Given the description of an element on the screen output the (x, y) to click on. 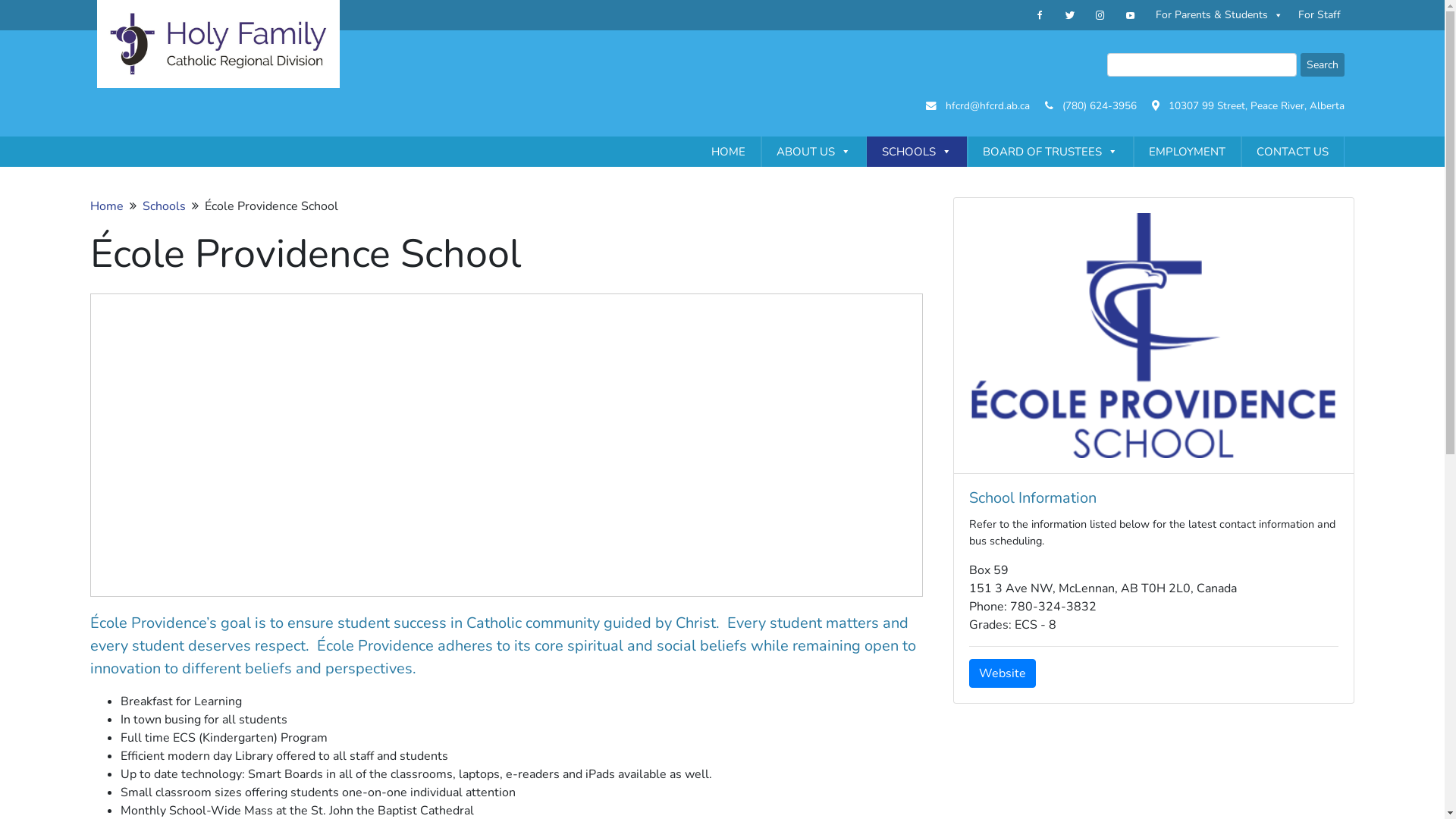
SCHOOLS Element type: text (916, 151)
EMPLOYMENT Element type: text (1185, 151)
Website Element type: text (1002, 672)
Schools Element type: text (163, 205)
ABOUT US Element type: text (813, 151)
Home Element type: text (106, 205)
For Parents & Students Element type: text (1219, 15)
BOARD OF TRUSTEES Element type: text (1049, 151)
Search Element type: text (1321, 64)
CONTACT US Element type: text (1291, 151)
HOME Element type: text (728, 151)
For Staff Element type: text (1319, 15)
10307 99 Street, Peace River, Alberta Element type: text (1255, 105)
